Given the description of an element on the screen output the (x, y) to click on. 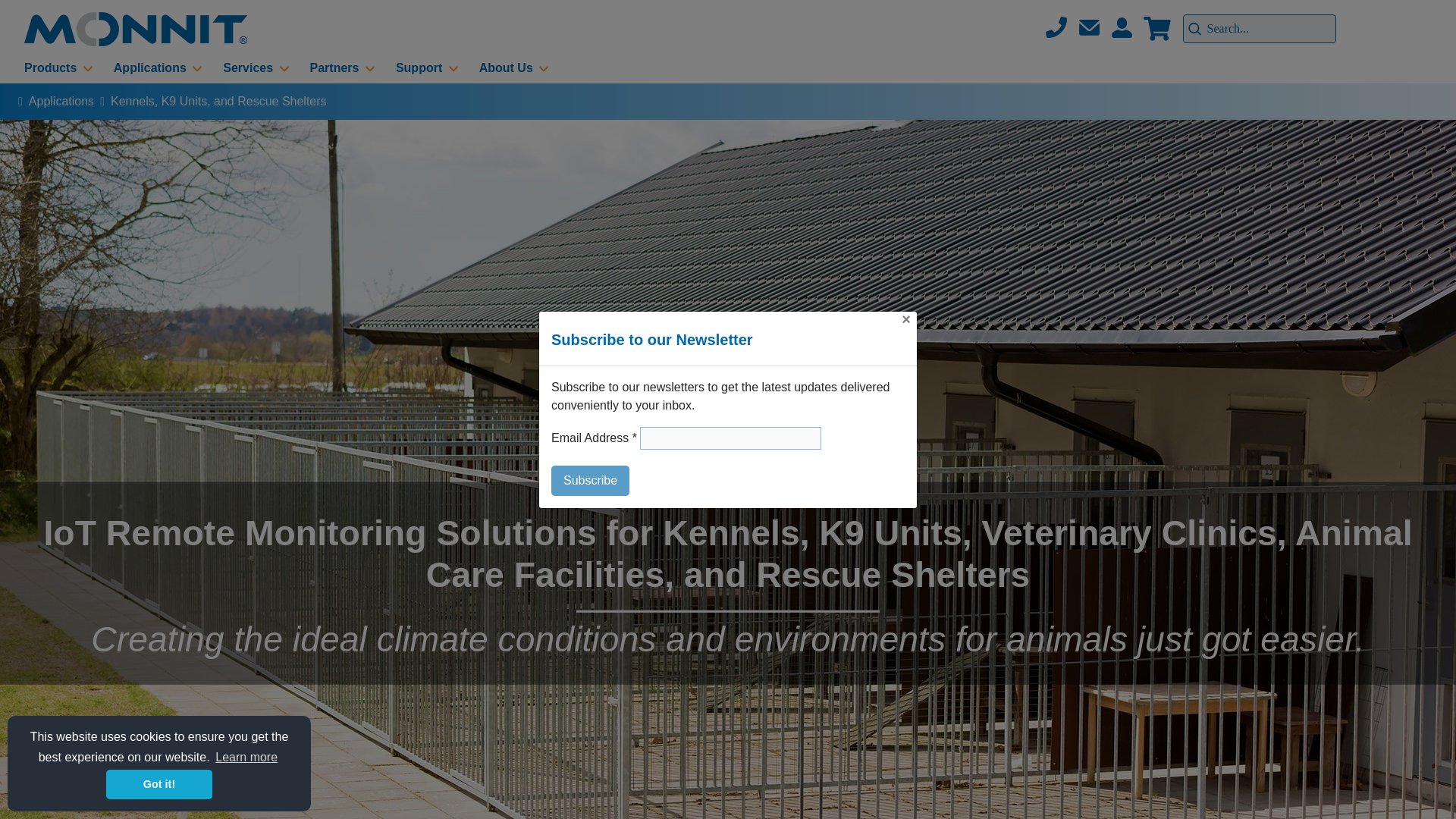
Got it! (159, 784)
Learn more (245, 757)
Subscribe (589, 481)
